Given the description of an element on the screen output the (x, y) to click on. 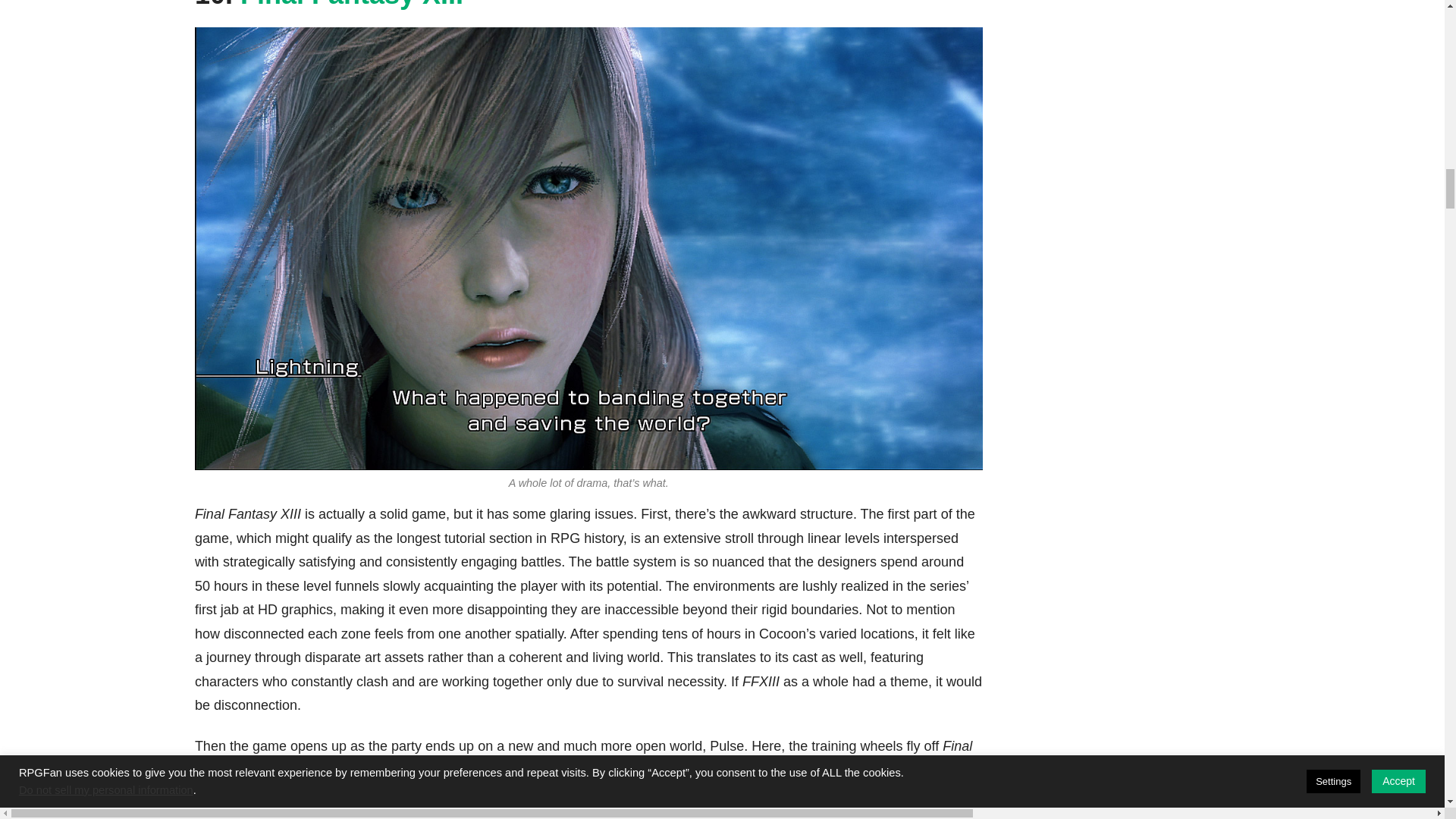
Final Fantasy XIII (351, 4)
